Given the description of an element on the screen output the (x, y) to click on. 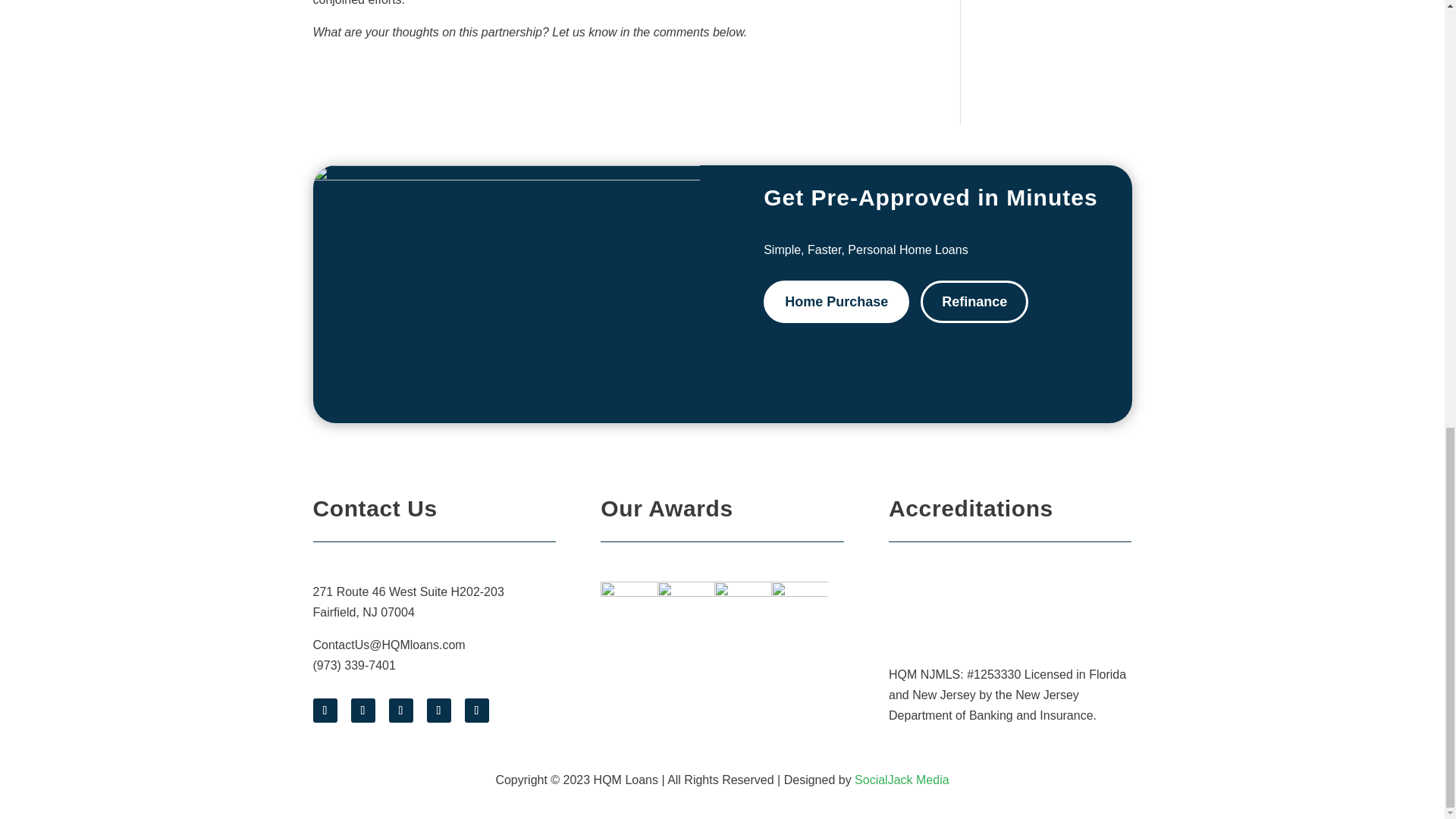
Follow on Facebook (324, 710)
Follow on Instagram (400, 710)
Award-2018 (628, 609)
Follow on LinkedIn (475, 710)
Follow on Youtube (437, 710)
Refinance (973, 301)
House (505, 294)
Award-UWM2 (742, 609)
Award-UWM (686, 609)
Home Purchase (835, 301)
Follow on Twitter (362, 710)
Expertise (799, 609)
